Given the description of an element on the screen output the (x, y) to click on. 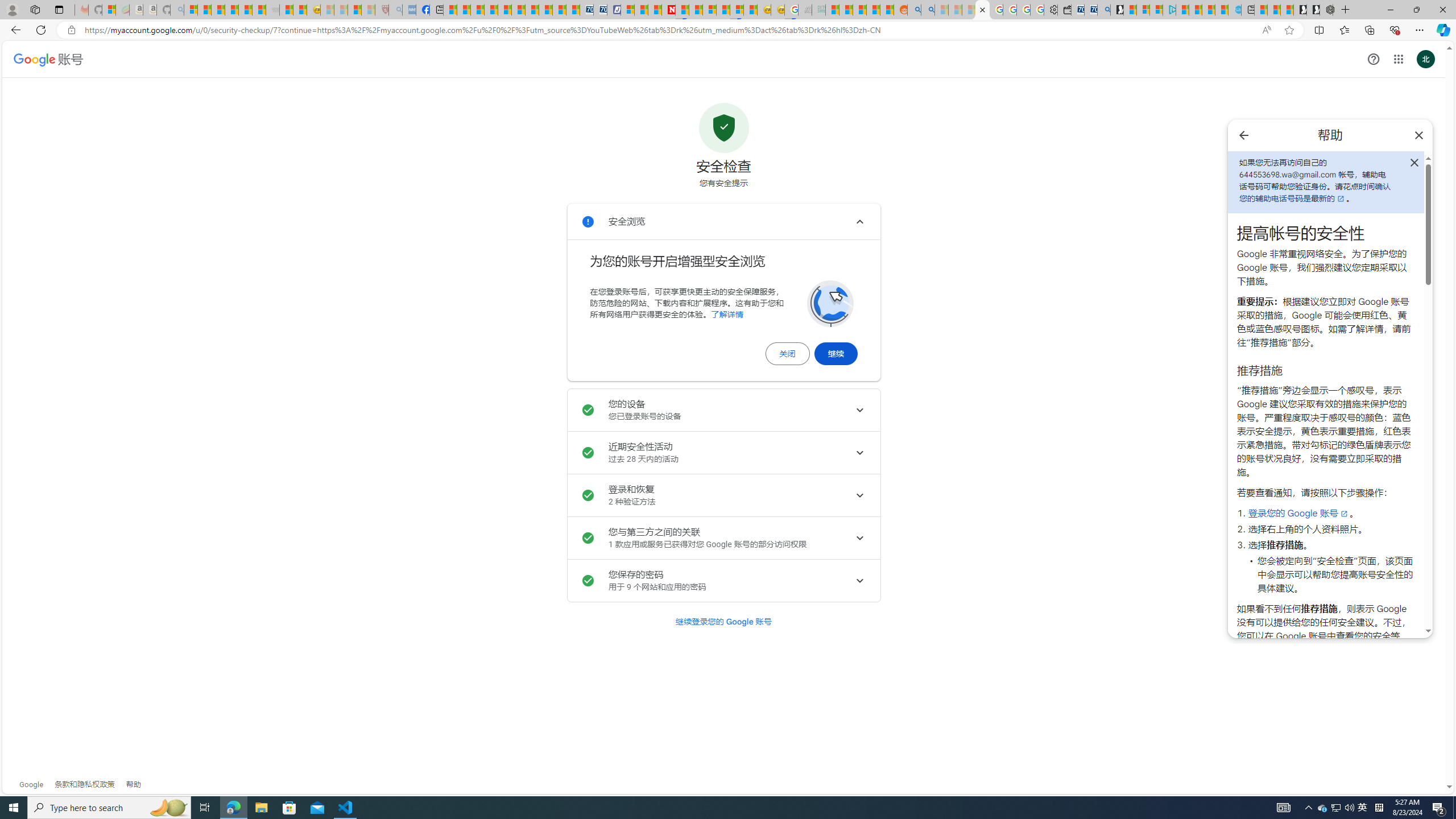
Bing Real Estate - Home sales and rental listings (1103, 9)
Student Loan Update: Forgiveness Program Ends This Month (873, 9)
